Given the description of an element on the screen output the (x, y) to click on. 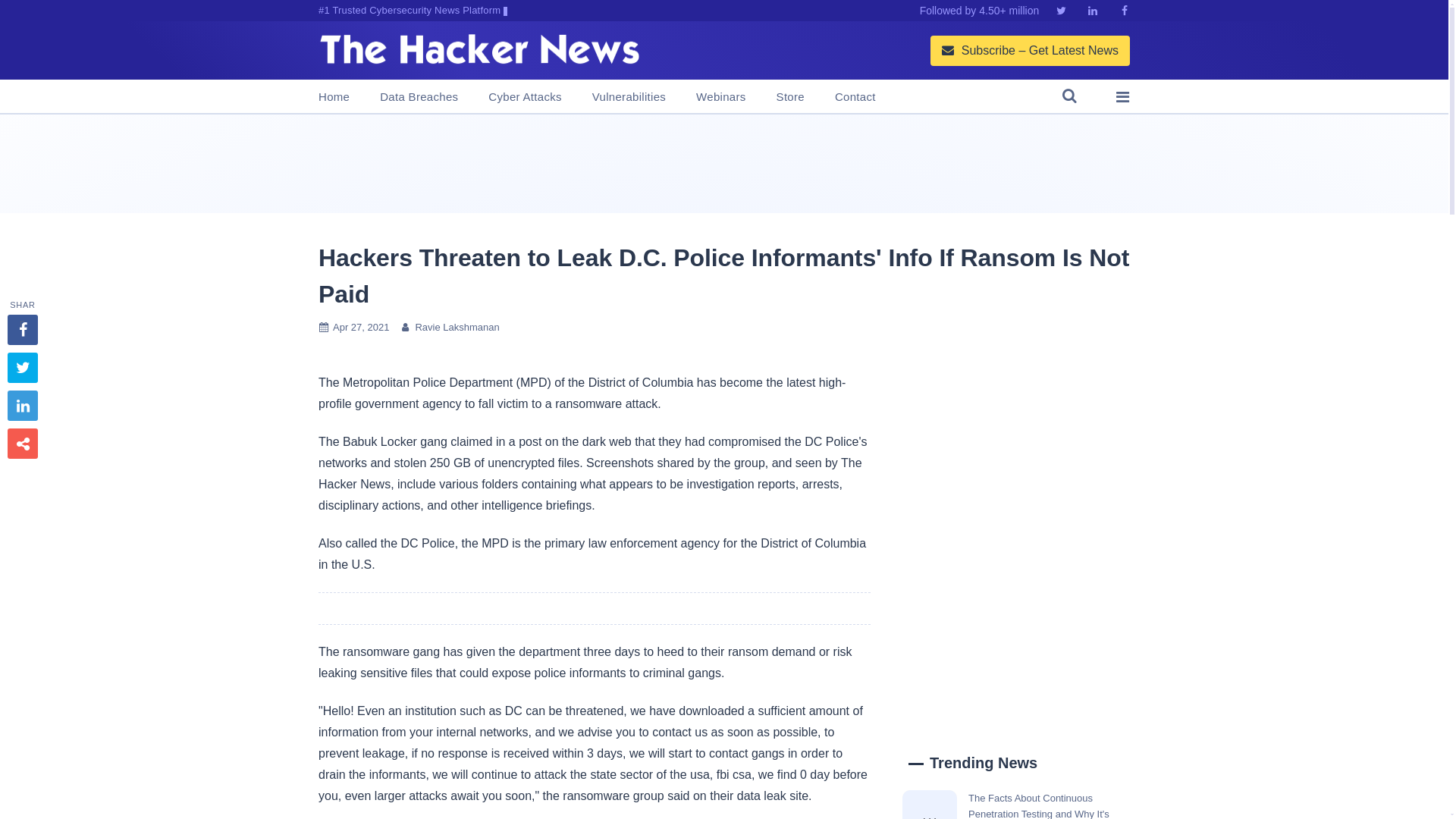
Vulnerabilities (628, 96)
Cyber Attacks (523, 96)
Data Breaches (419, 96)
Webinars (720, 96)
Contact (855, 96)
Home (333, 96)
